Given the description of an element on the screen output the (x, y) to click on. 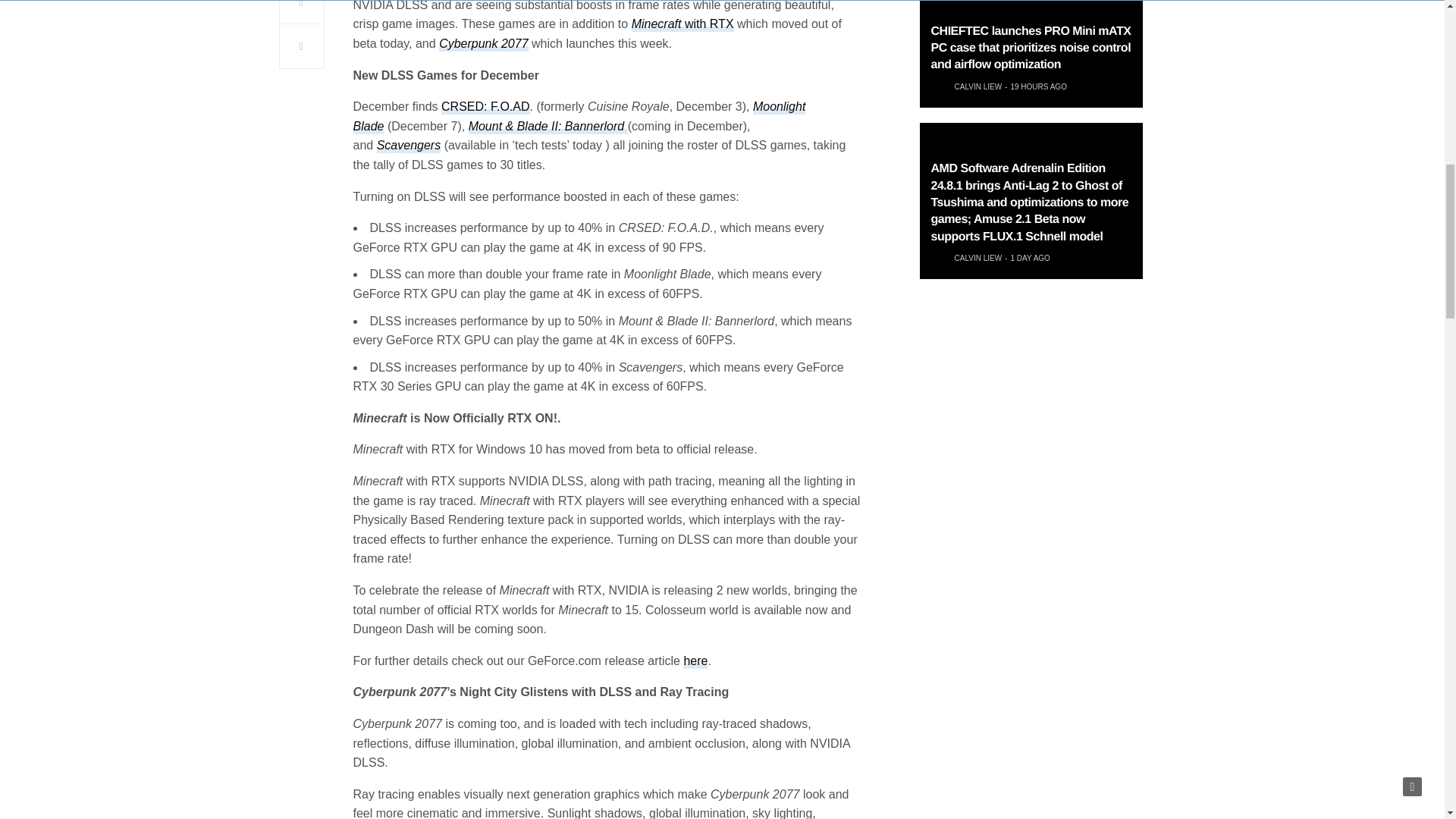
Moonlight Blade (579, 116)
here (694, 661)
Posts by Calvin Liew (977, 87)
CRSED: F.O.AD (485, 106)
Minecraft with RTX (682, 24)
Scavengers (409, 145)
Cyberpunk 2077 (483, 43)
